Given the description of an element on the screen output the (x, y) to click on. 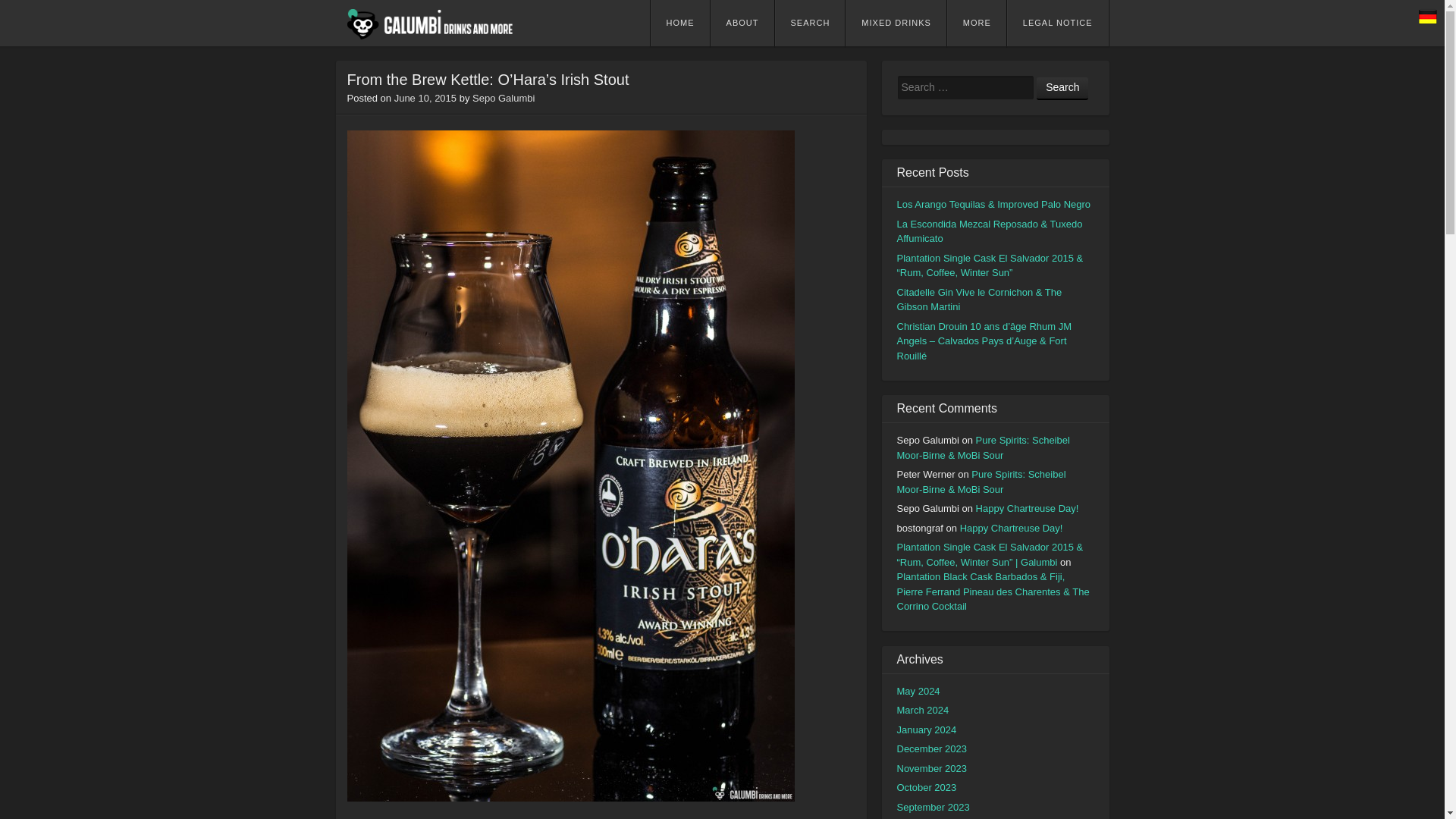
September 2023 (932, 806)
Happy Chartreuse Day! (1010, 527)
Happy Chartreuse Day! (1026, 508)
SEARCH (809, 22)
October 2023 (926, 787)
German  (1427, 16)
Search (1061, 87)
December 2023 (931, 748)
LEGAL NOTICE (1057, 22)
June 10, 2015 (425, 98)
